Given the description of an element on the screen output the (x, y) to click on. 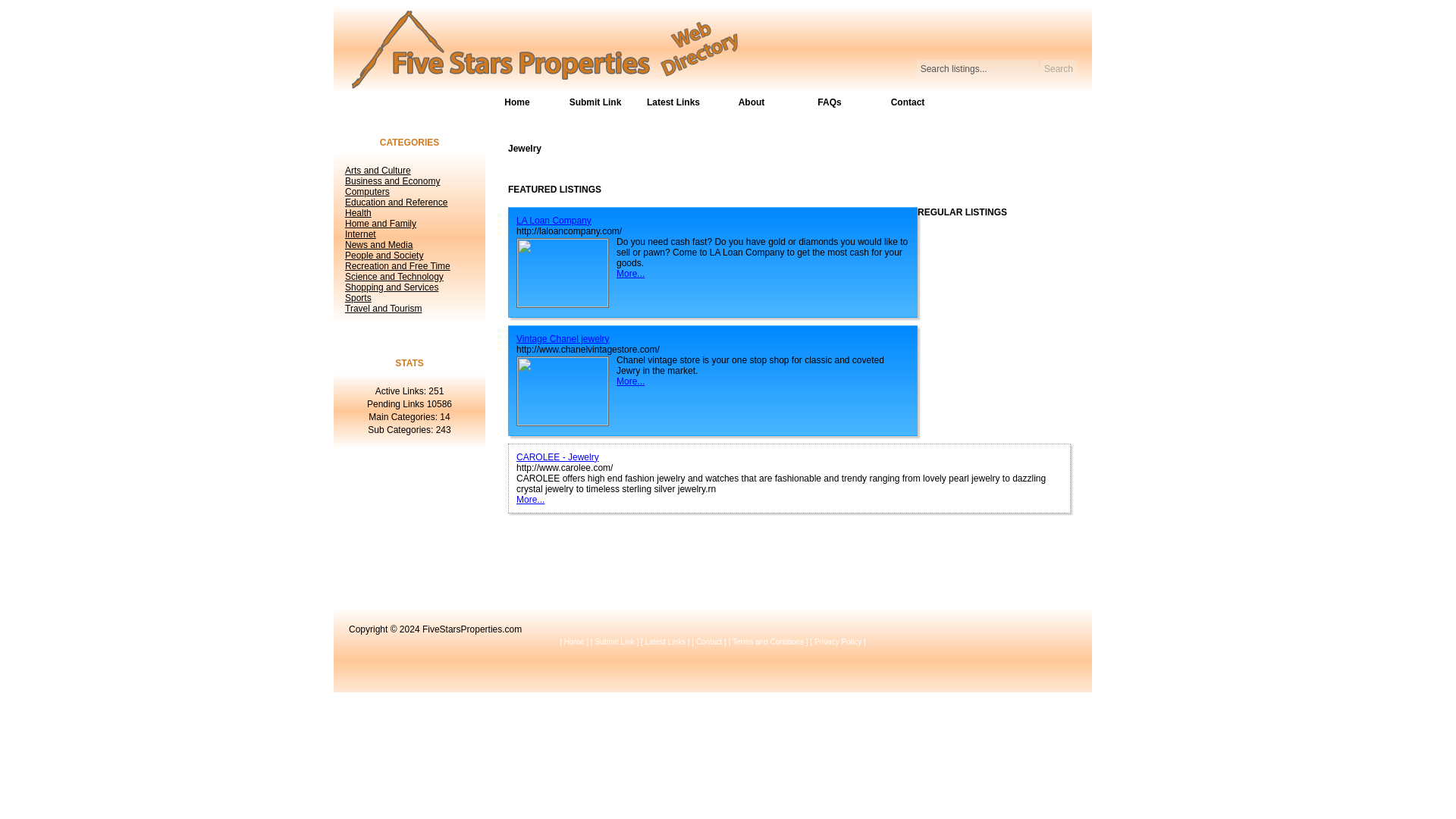
Contact (907, 102)
Vintage Chanel jewelry (563, 338)
Privacy Policy (837, 642)
Home (574, 642)
People and Society (384, 255)
Submit Link (613, 642)
Education and Reference (395, 202)
CAROLEE - Jewelry (557, 457)
Search (1059, 68)
News and Media (378, 244)
Shopping and Services (391, 286)
Arts and Culture (377, 170)
LA Loan Company (553, 220)
Internet (360, 234)
FiveStarsProperties.com (471, 629)
